Given the description of an element on the screen output the (x, y) to click on. 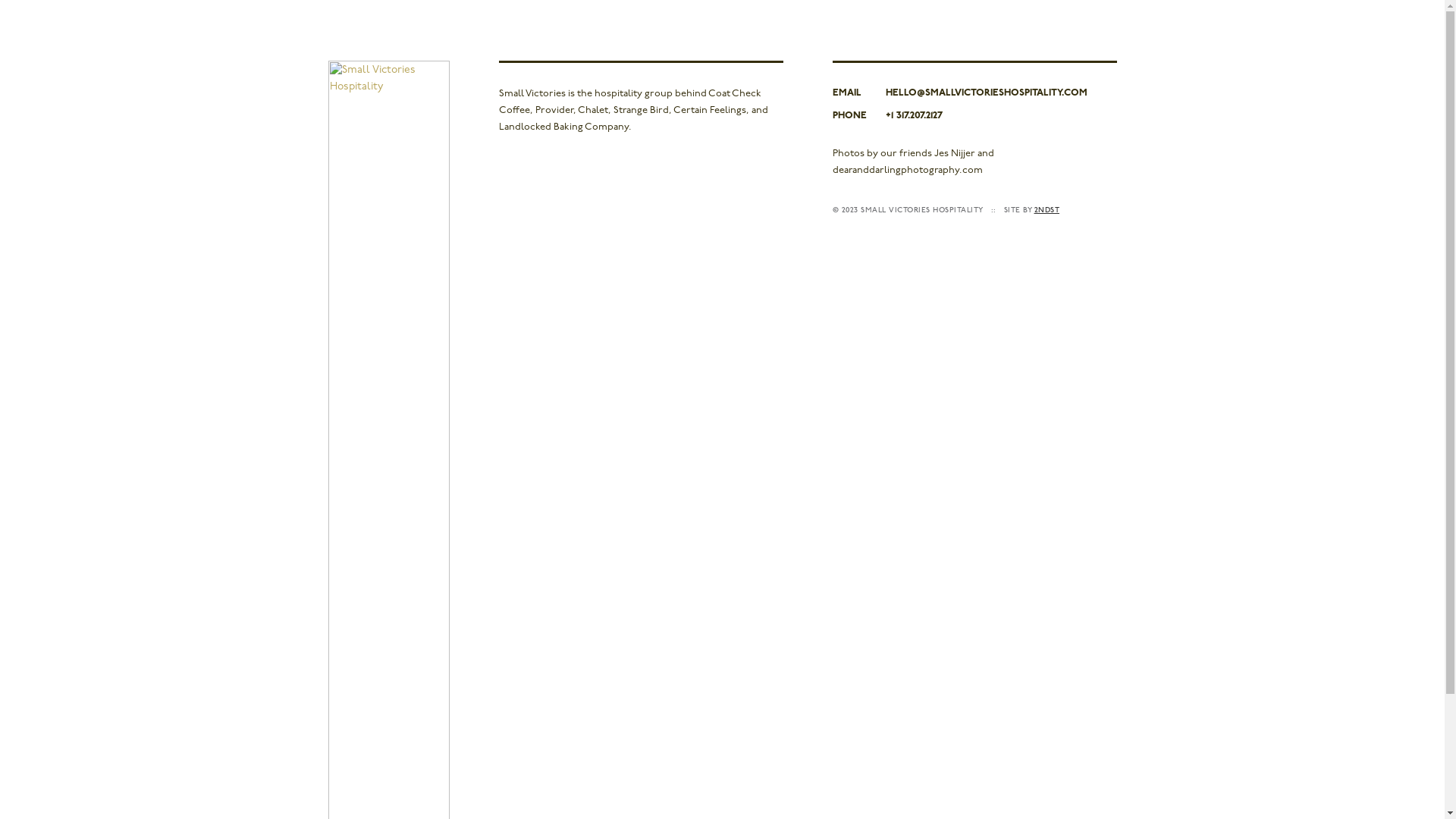
+1 317.207.2127 Element type: text (1001, 114)
2NDST Element type: text (1047, 210)
HELLO@SMALLVICTORIESHOSPITALITY.COM Element type: text (1001, 92)
